Given the description of an element on the screen output the (x, y) to click on. 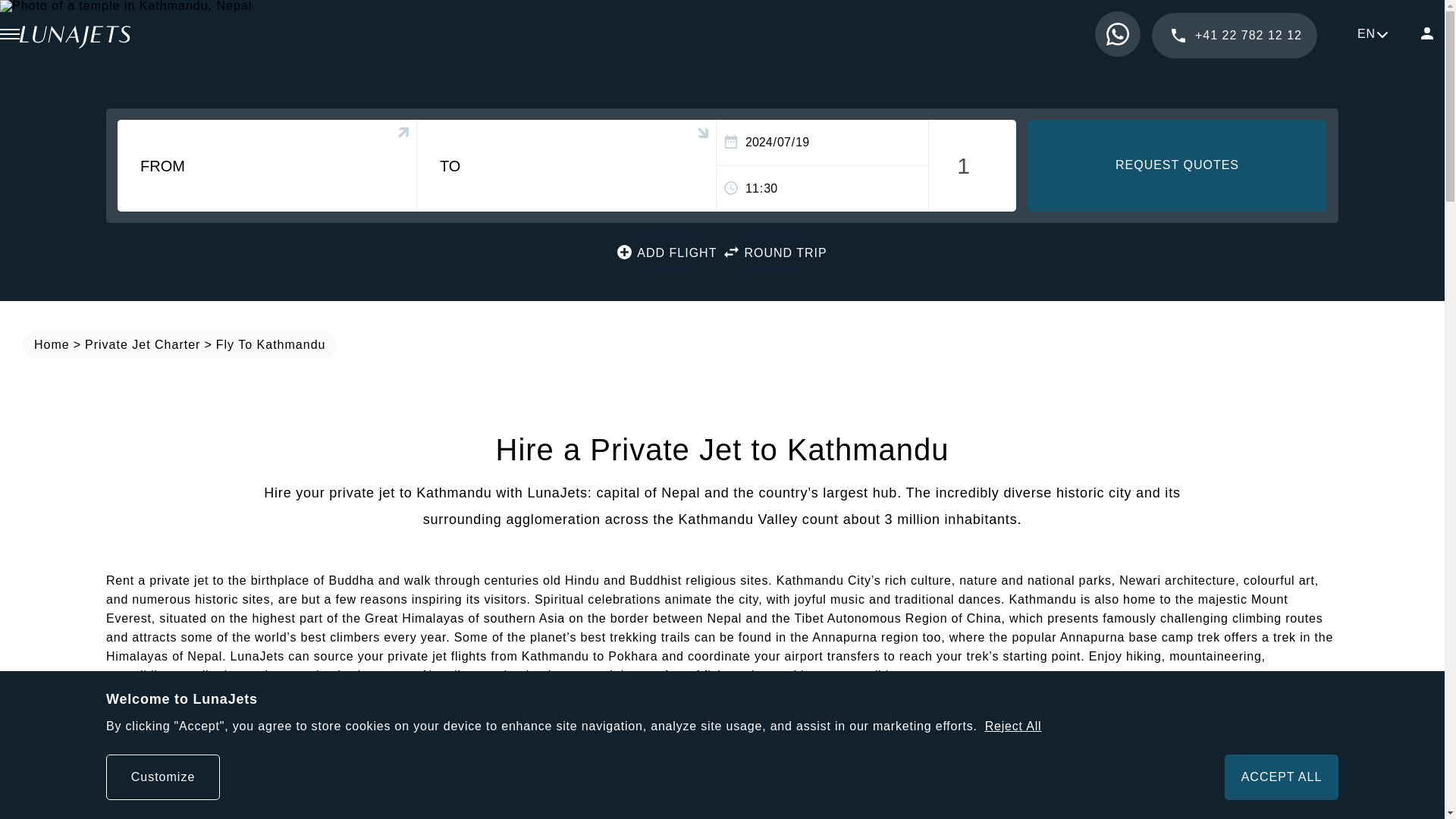
11:30 (822, 188)
grey calendar (730, 141)
grey time watch (730, 187)
Photo of a temple in Kathmandu, Nepal (125, 6)
2024-07-19 (822, 142)
